Given the description of an element on the screen output the (x, y) to click on. 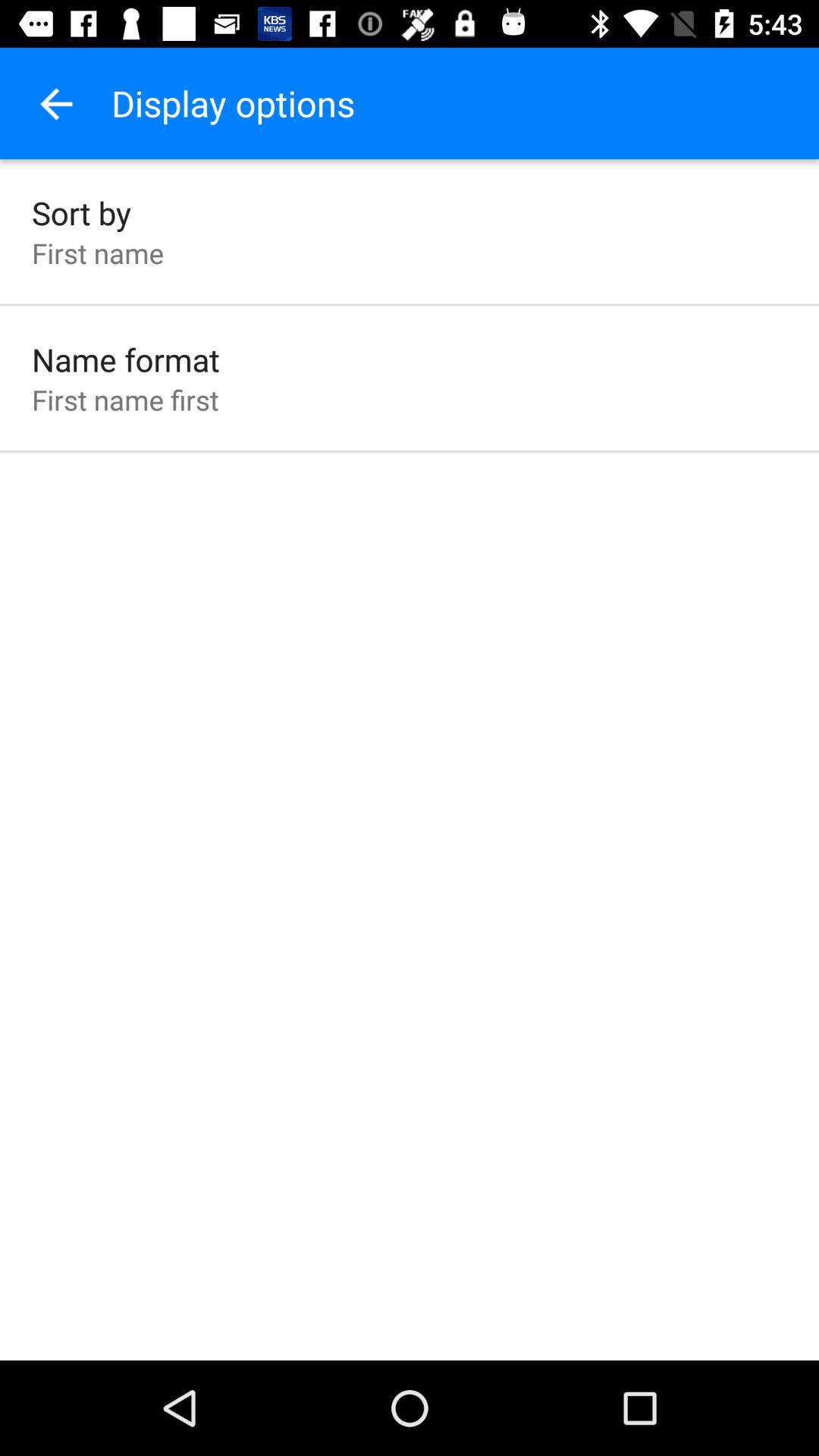
launch icon next to display options item (55, 103)
